Given the description of an element on the screen output the (x, y) to click on. 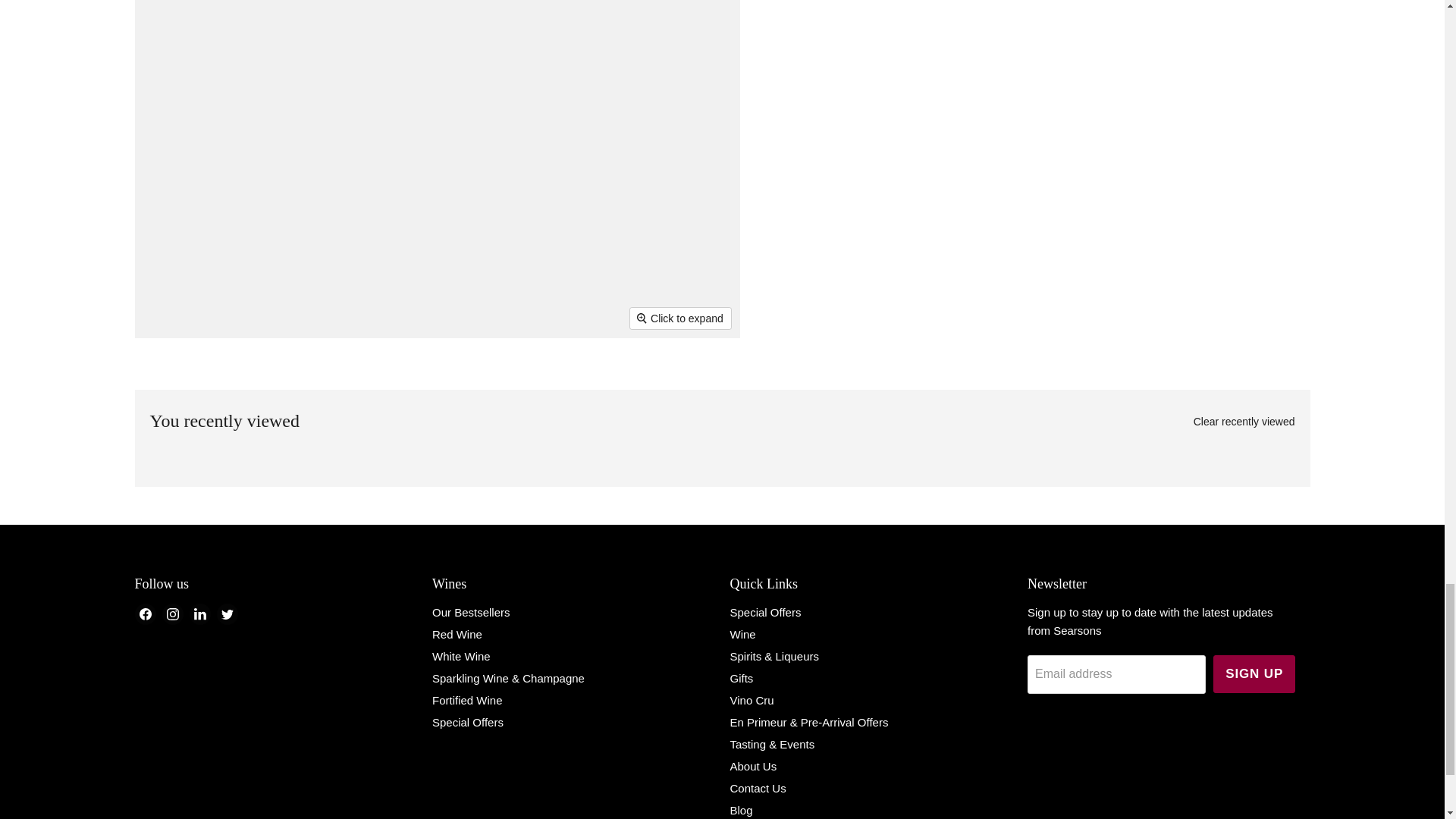
LinkedIn (200, 613)
Twitter (227, 613)
Instagram (172, 613)
Facebook (145, 613)
